Given the description of an element on the screen output the (x, y) to click on. 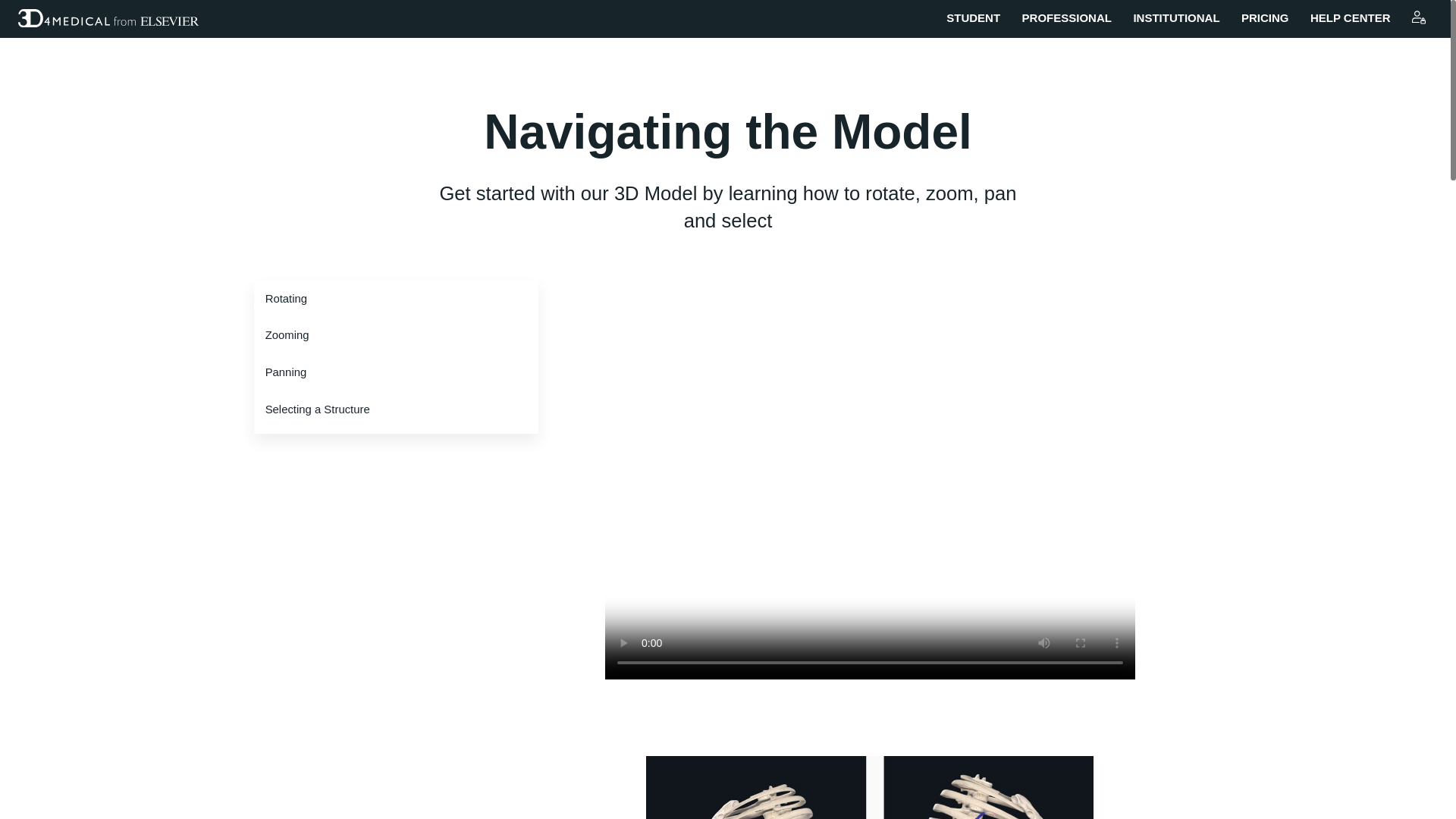
LOGIN CREATED WITH SKETCH. (1418, 17)
HELP CENTER (1350, 17)
PRICING (1264, 17)
LOGIN CREATED WITH SKETCH. (1418, 17)
INSTITUTIONAL (1176, 17)
STUDENT (973, 17)
PROFESSIONAL (1067, 17)
